Given the description of an element on the screen output the (x, y) to click on. 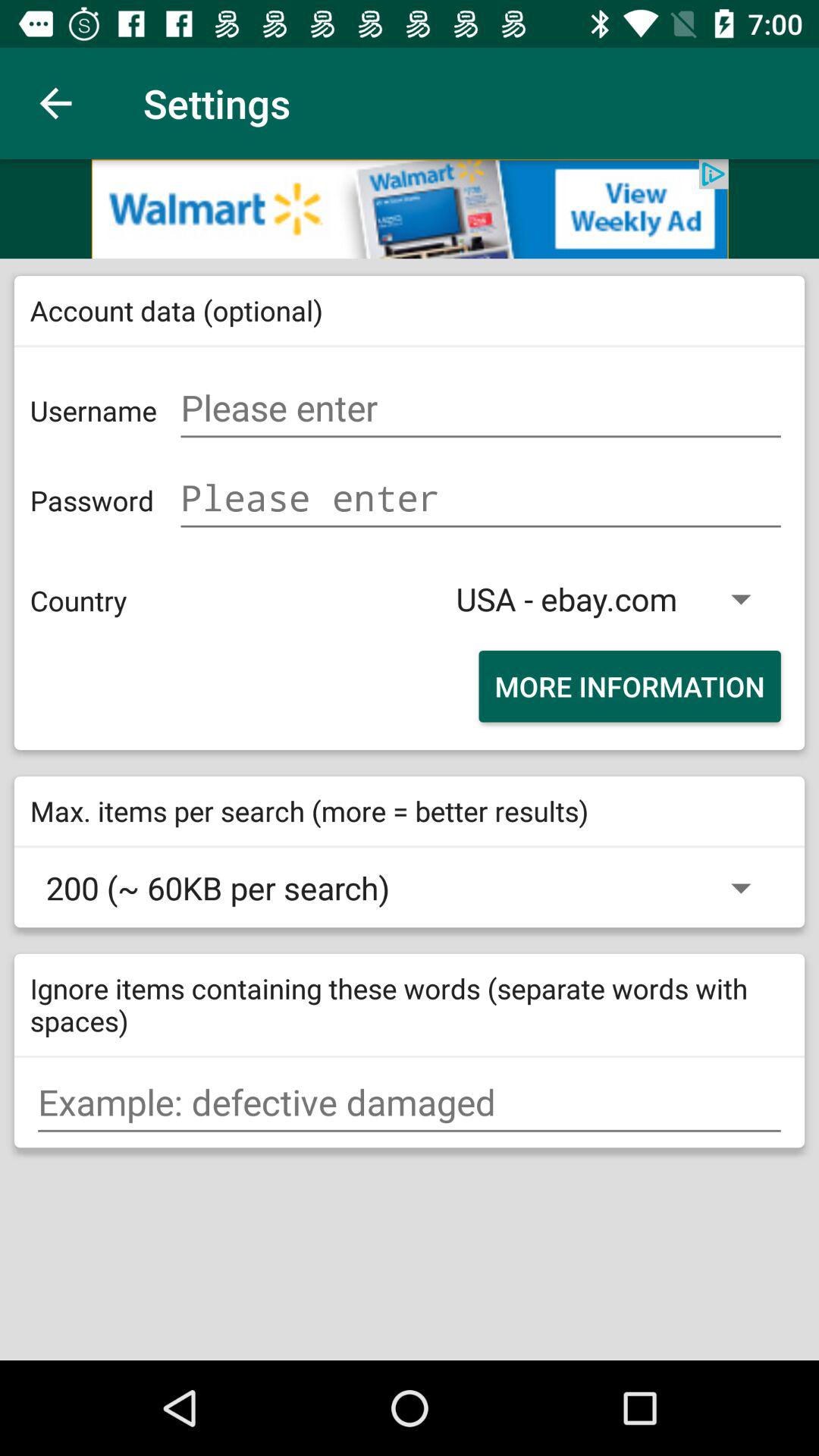
search the any one (409, 1102)
